Given the description of an element on the screen output the (x, y) to click on. 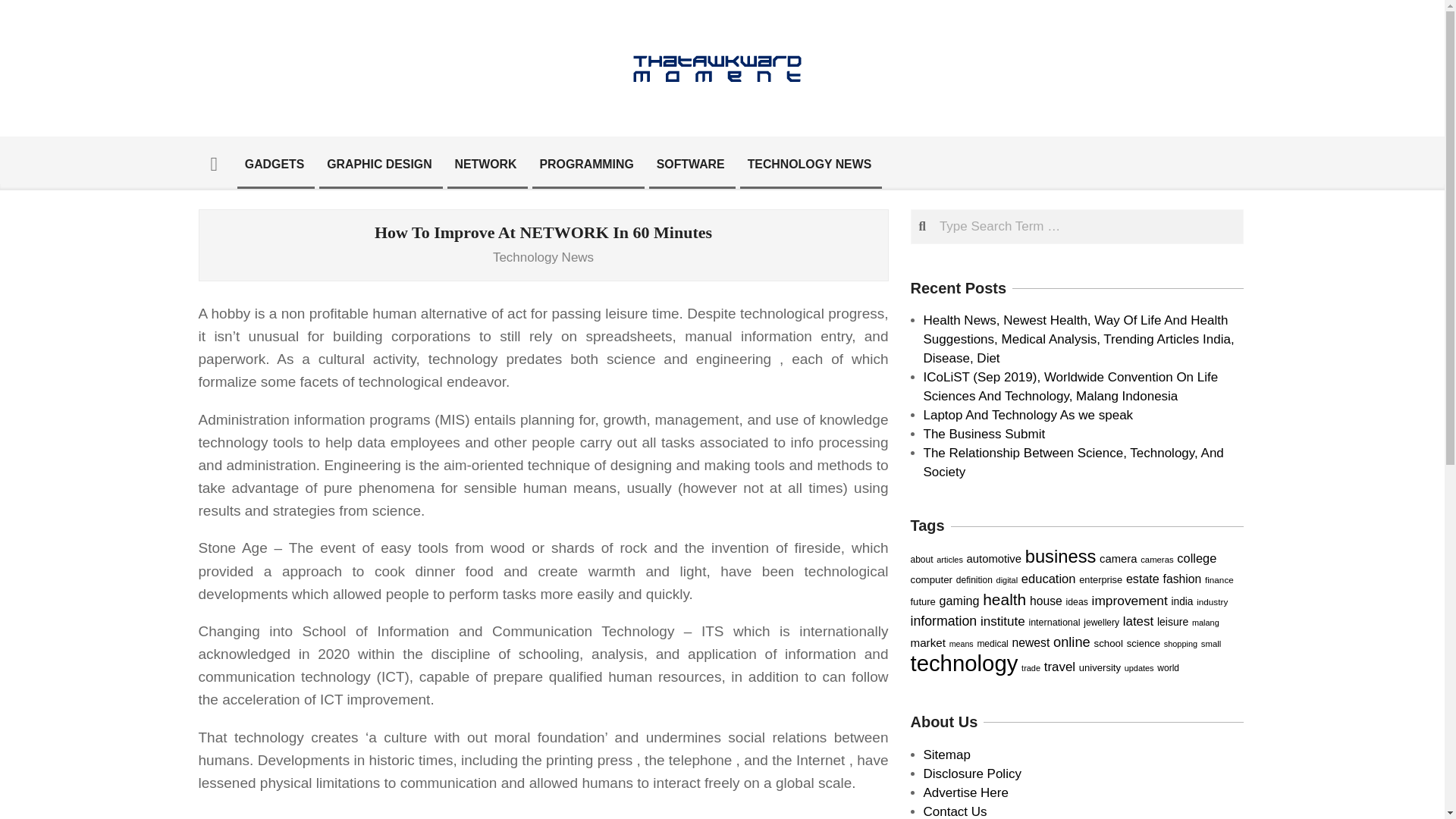
NETWORK (486, 163)
articles (949, 559)
finance (1219, 579)
fashion (1182, 578)
business (1060, 556)
estate (1141, 578)
Laptop And Technology As we speak (1028, 414)
automotive (994, 558)
computer (931, 579)
education (1048, 578)
future (922, 601)
The Relationship Between Science, Technology, And Society (1073, 462)
college (1195, 558)
camera (1118, 558)
